Given the description of an element on the screen output the (x, y) to click on. 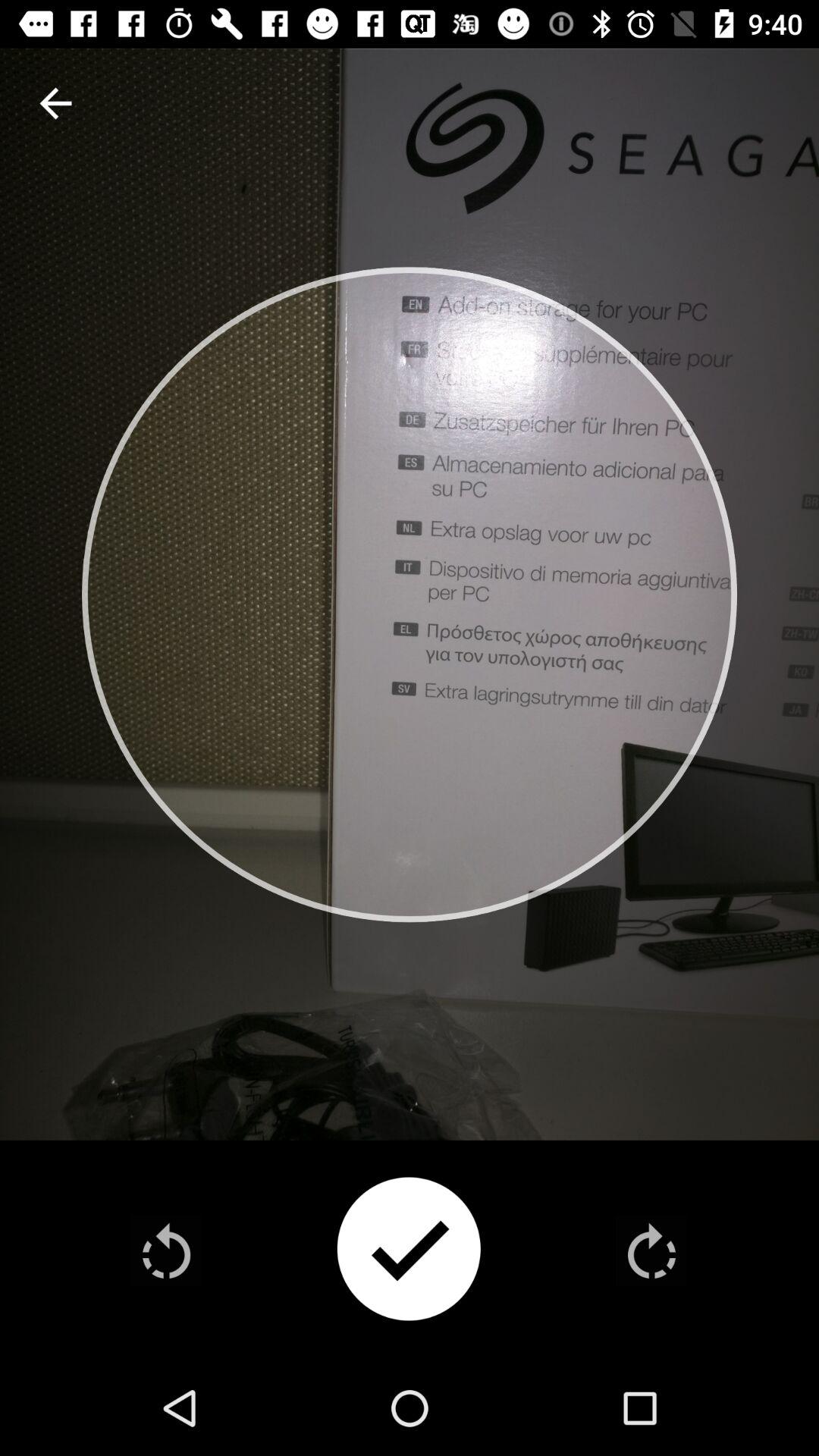
accept changes (408, 1250)
